Given the description of an element on the screen output the (x, y) to click on. 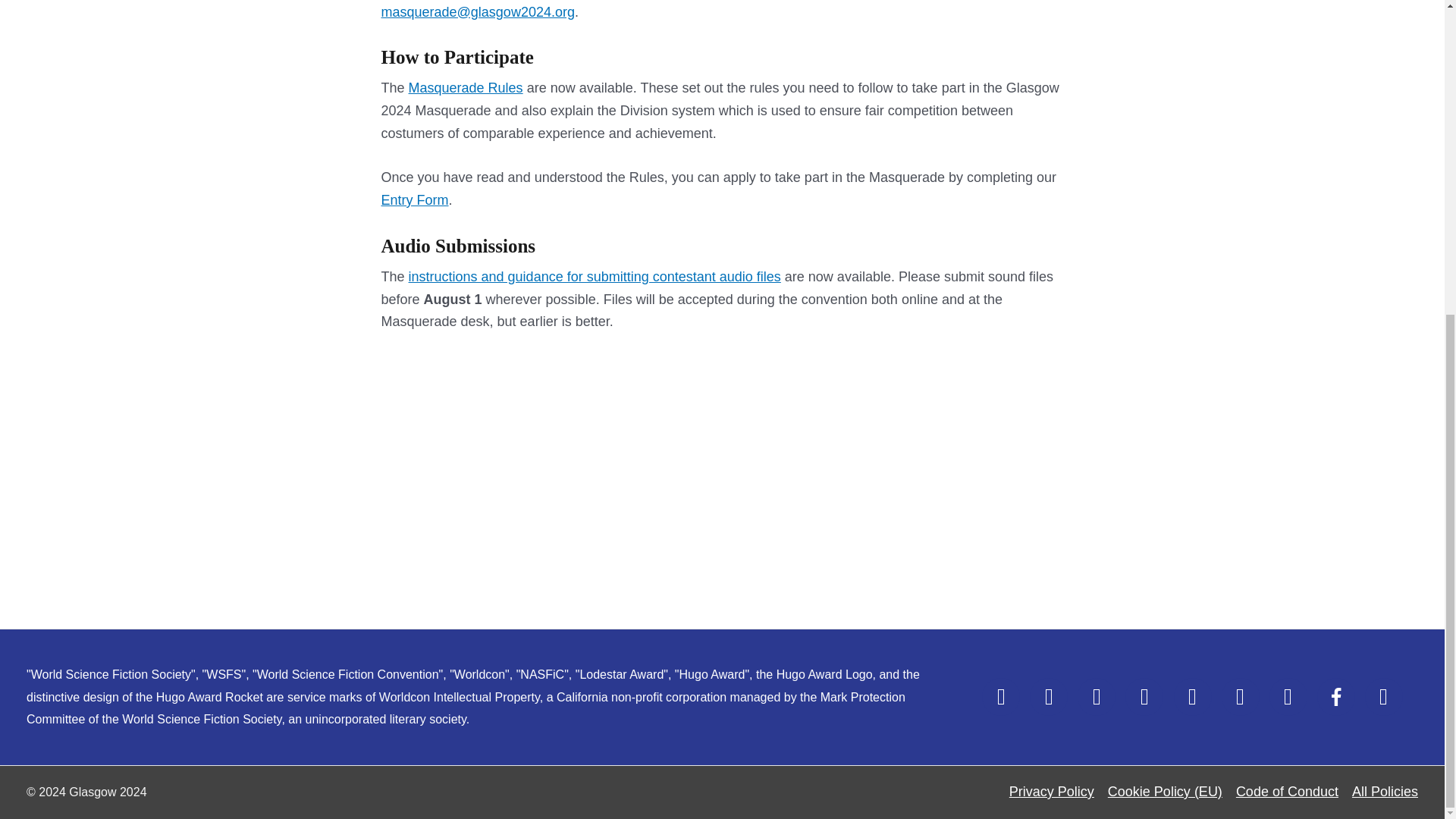
Bluesky (1384, 695)
Twitter (1048, 695)
Instagram (1096, 695)
Facebook Community  (1336, 695)
Twitch (1144, 695)
Tiktok (1192, 695)
YouTube (1288, 695)
Ravelry (1240, 695)
Facebook (1000, 695)
